Given the description of an element on the screen output the (x, y) to click on. 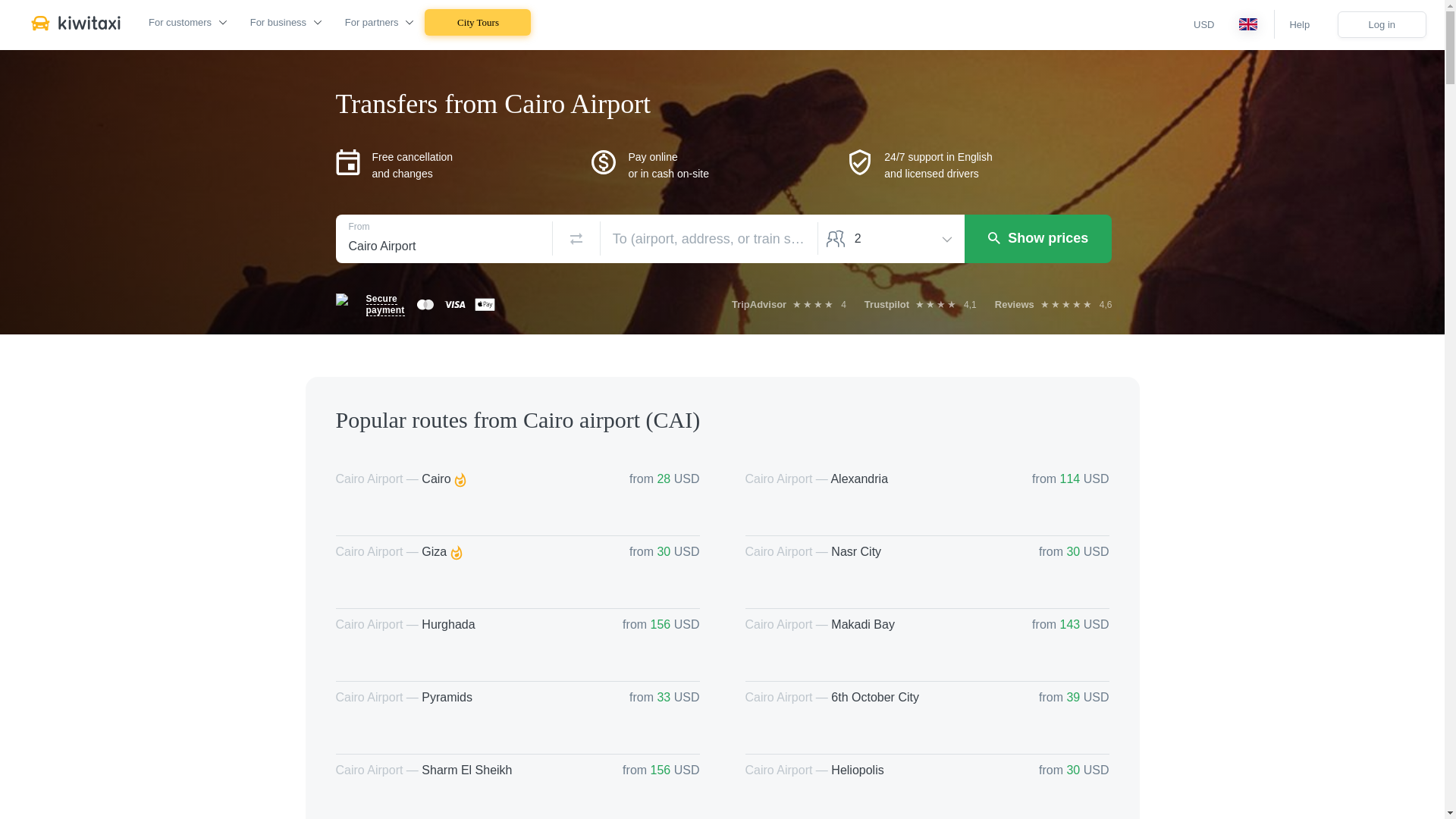
Log in (1382, 24)
Cairo Airport (443, 238)
Help (1298, 24)
